Given the description of an element on the screen output the (x, y) to click on. 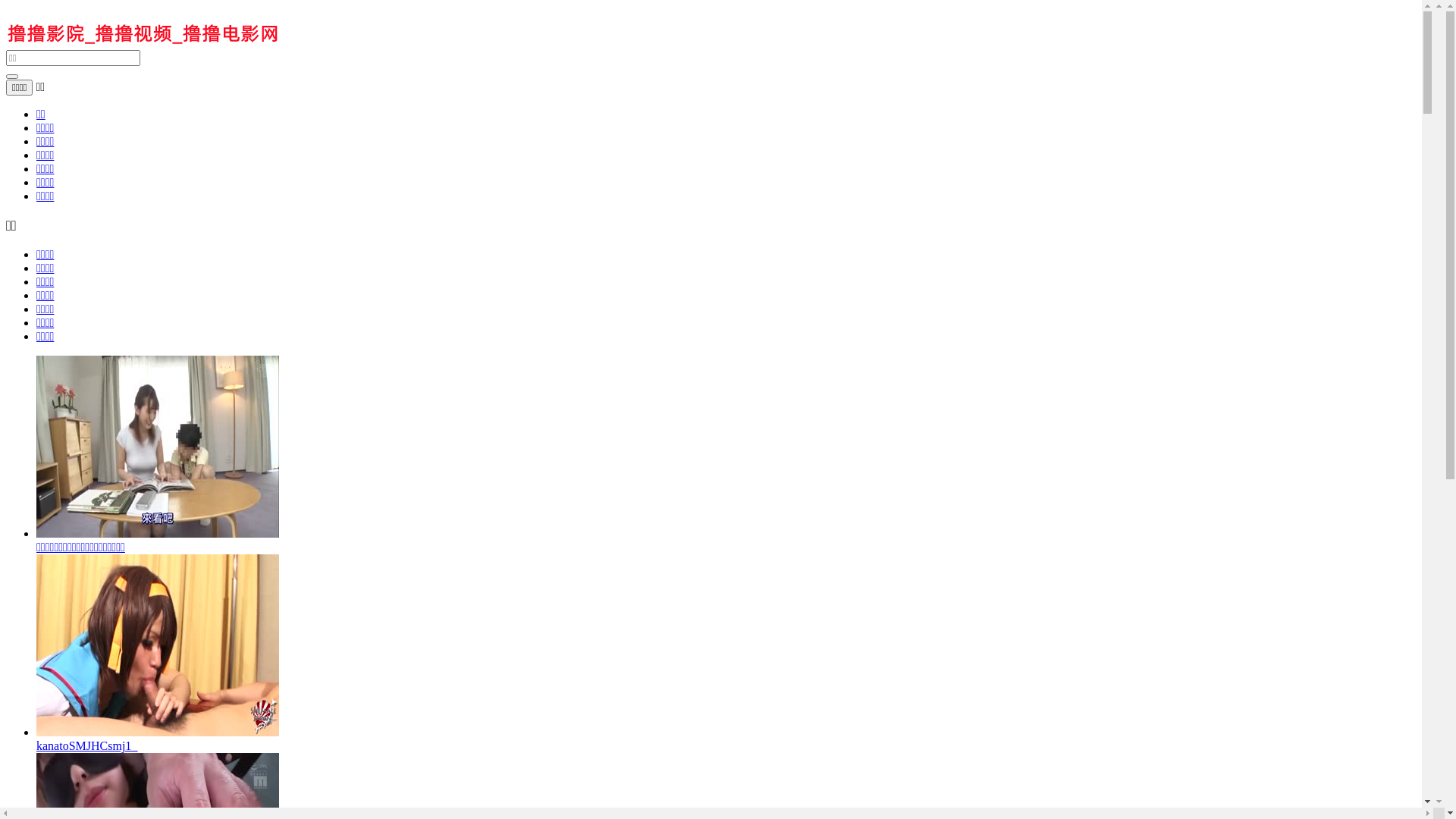
ENGLISH Element type: text (1079, 36)
2 Element type: text (1418, 752)
1 Element type: text (1418, 713)
>>> Element type: text (788, 378)
